Given the description of an element on the screen output the (x, y) to click on. 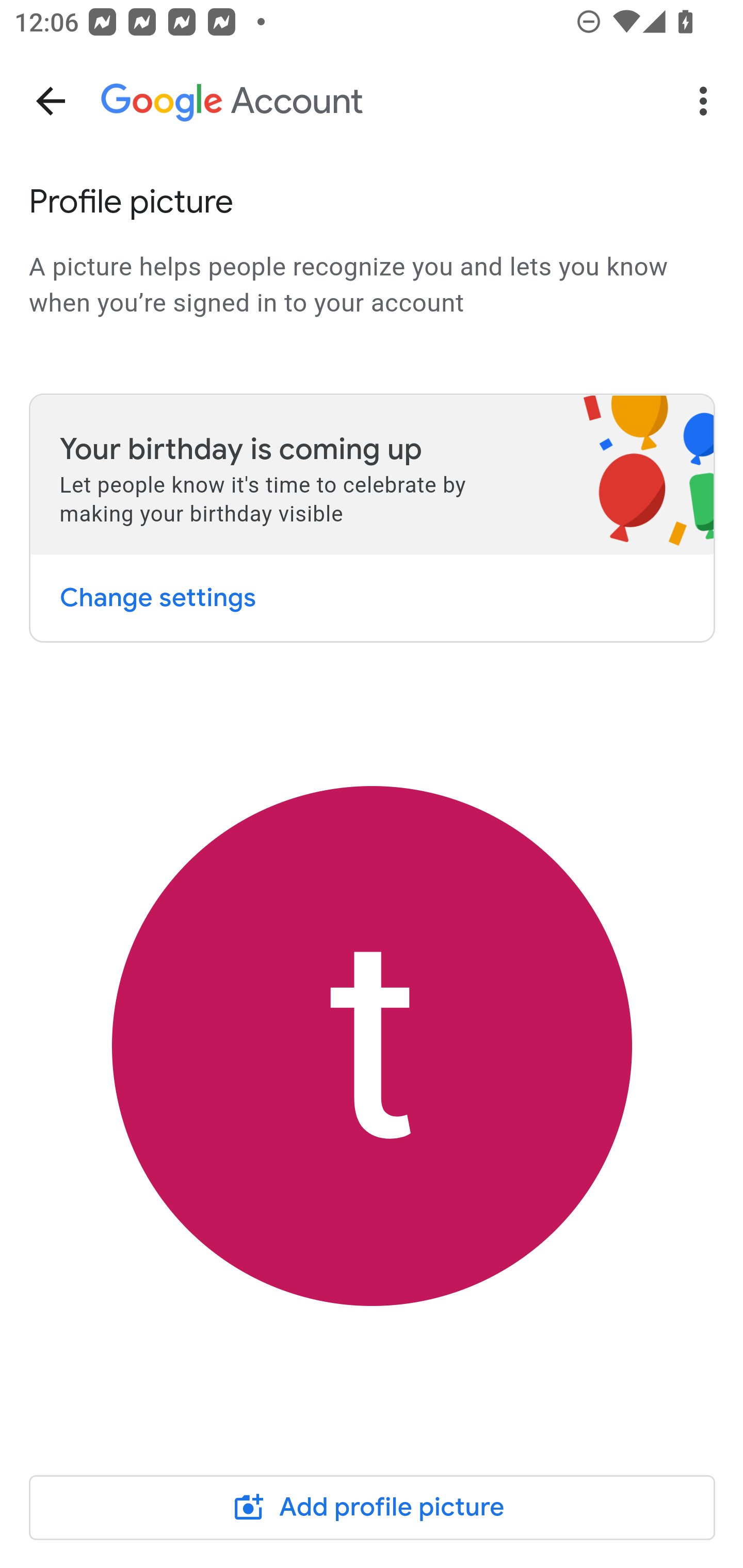
Navigate up (50, 101)
More options (706, 101)
Change settings (157, 596)
Add profile picture (372, 1506)
